Given the description of an element on the screen output the (x, y) to click on. 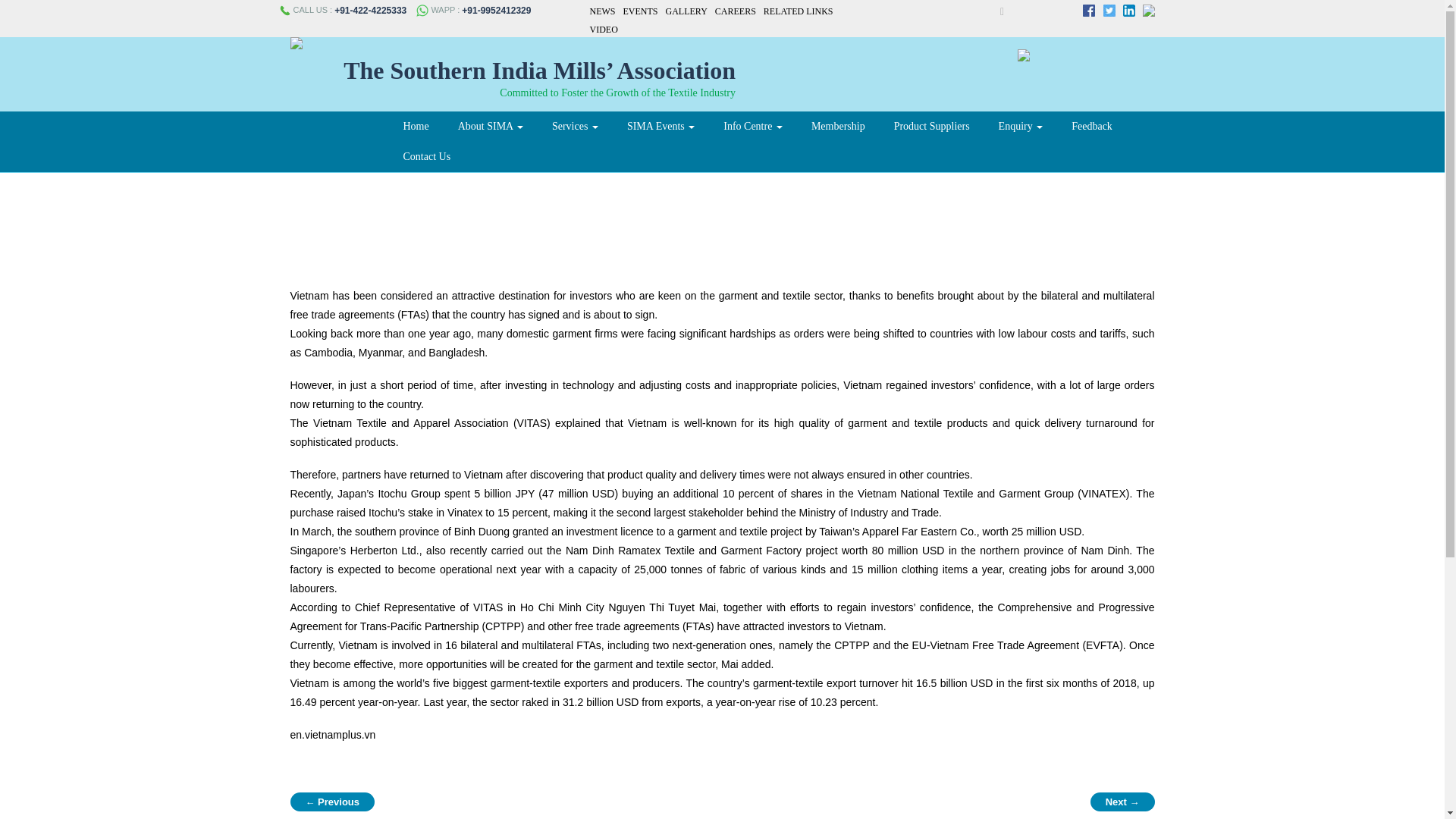
SIMA Events (660, 126)
Home (415, 126)
Submit (986, 11)
EVENTS (640, 10)
CAREERS (734, 10)
VIDEO (603, 29)
Home (415, 126)
Search here... (993, 11)
About SIMA (490, 126)
NEWS (601, 10)
GALLERY (685, 10)
RELATED LINKS (797, 10)
Info Centre (752, 126)
Search here... (993, 11)
Services (574, 126)
